Given the description of an element on the screen output the (x, y) to click on. 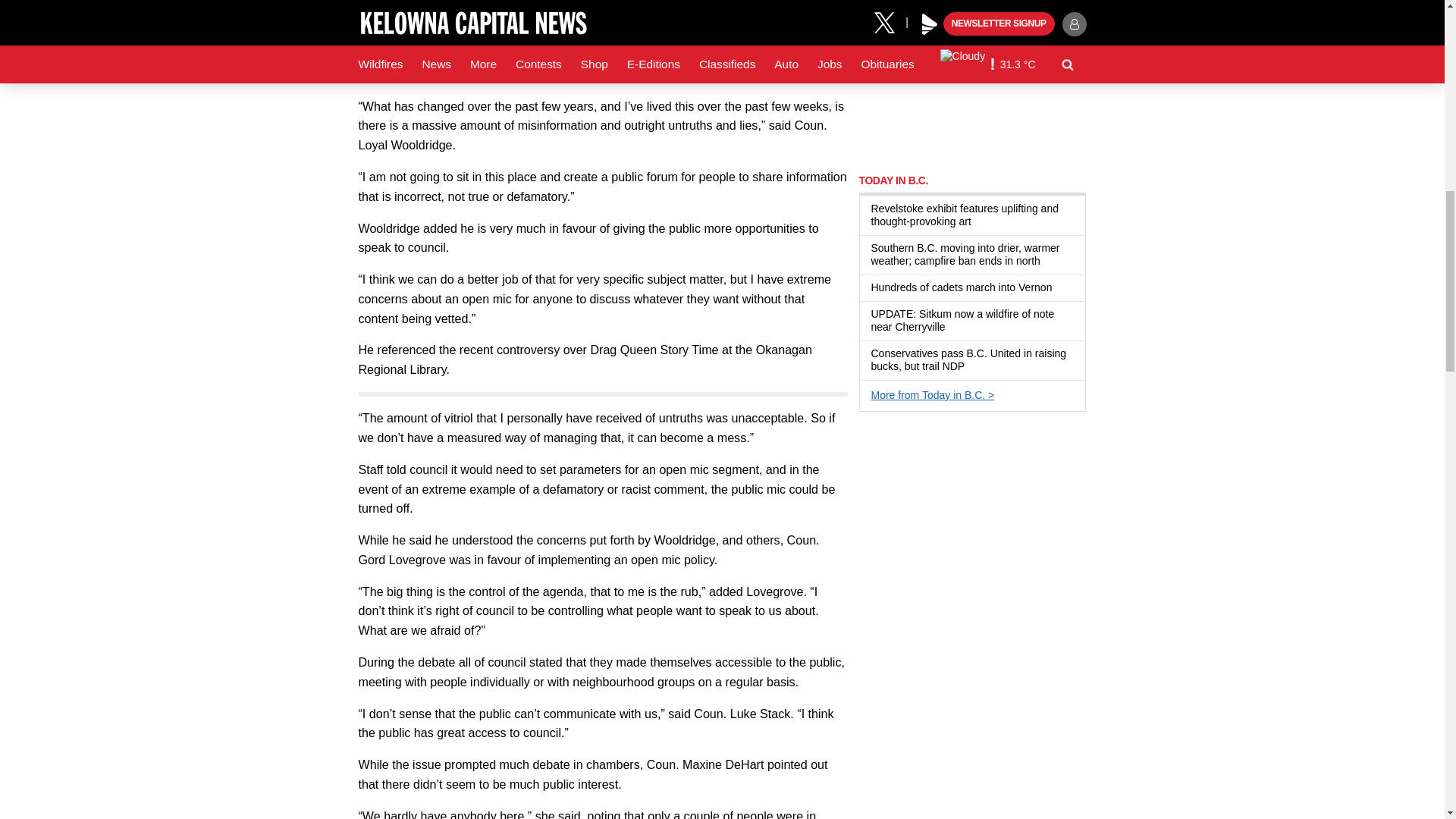
Has a gallery (1060, 287)
Has a gallery (980, 222)
Has a gallery (953, 327)
